Given the description of an element on the screen output the (x, y) to click on. 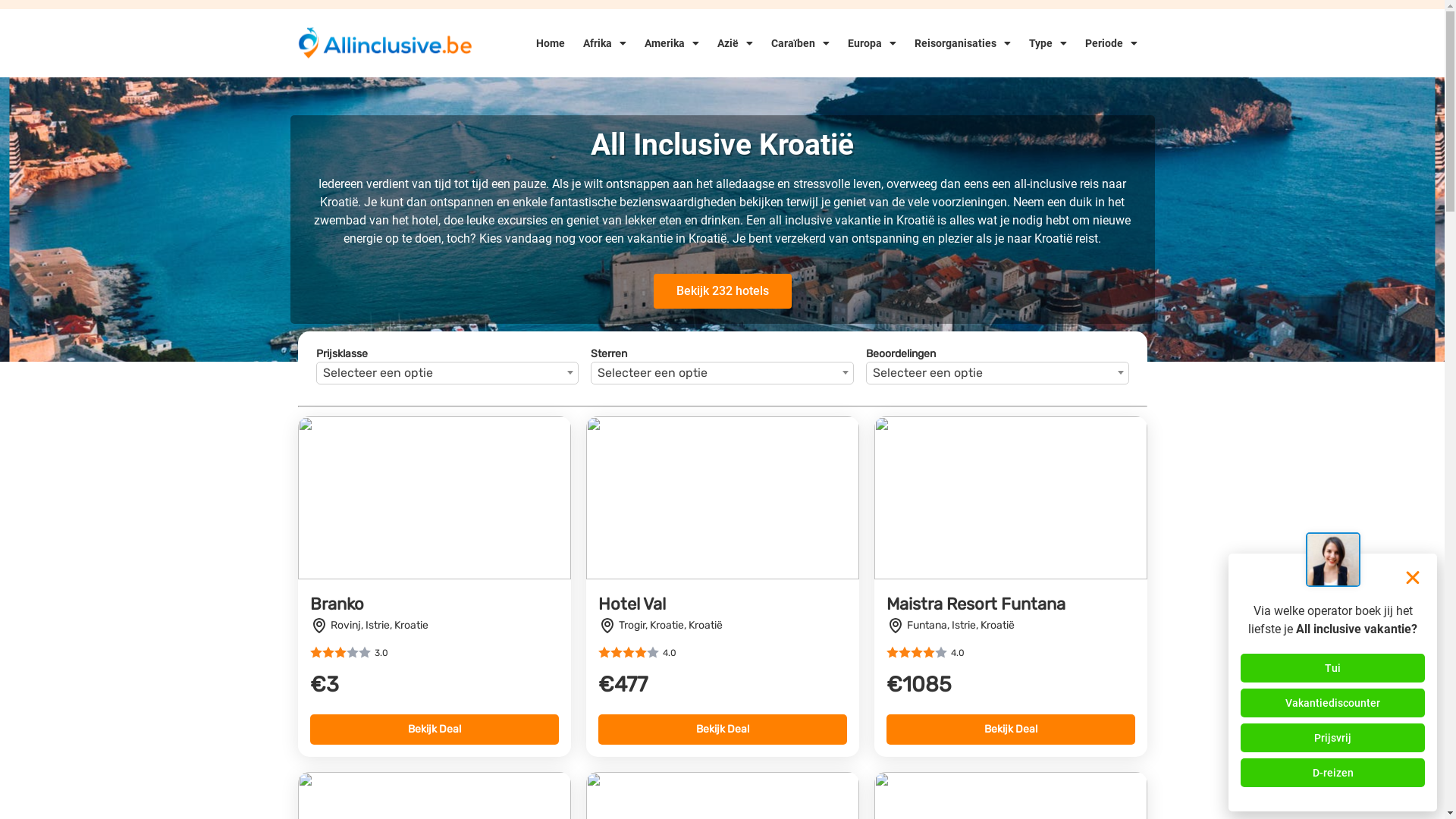
Europa Element type: text (871, 42)
Reisorganisaties Element type: text (962, 42)
Amerika Element type: text (671, 42)
Periode Element type: text (1111, 42)
Afrika Element type: text (604, 42)
Home Element type: text (550, 42)
Type Element type: text (1047, 42)
Bekijk 232 hotels Element type: text (722, 290)
